Given the description of an element on the screen output the (x, y) to click on. 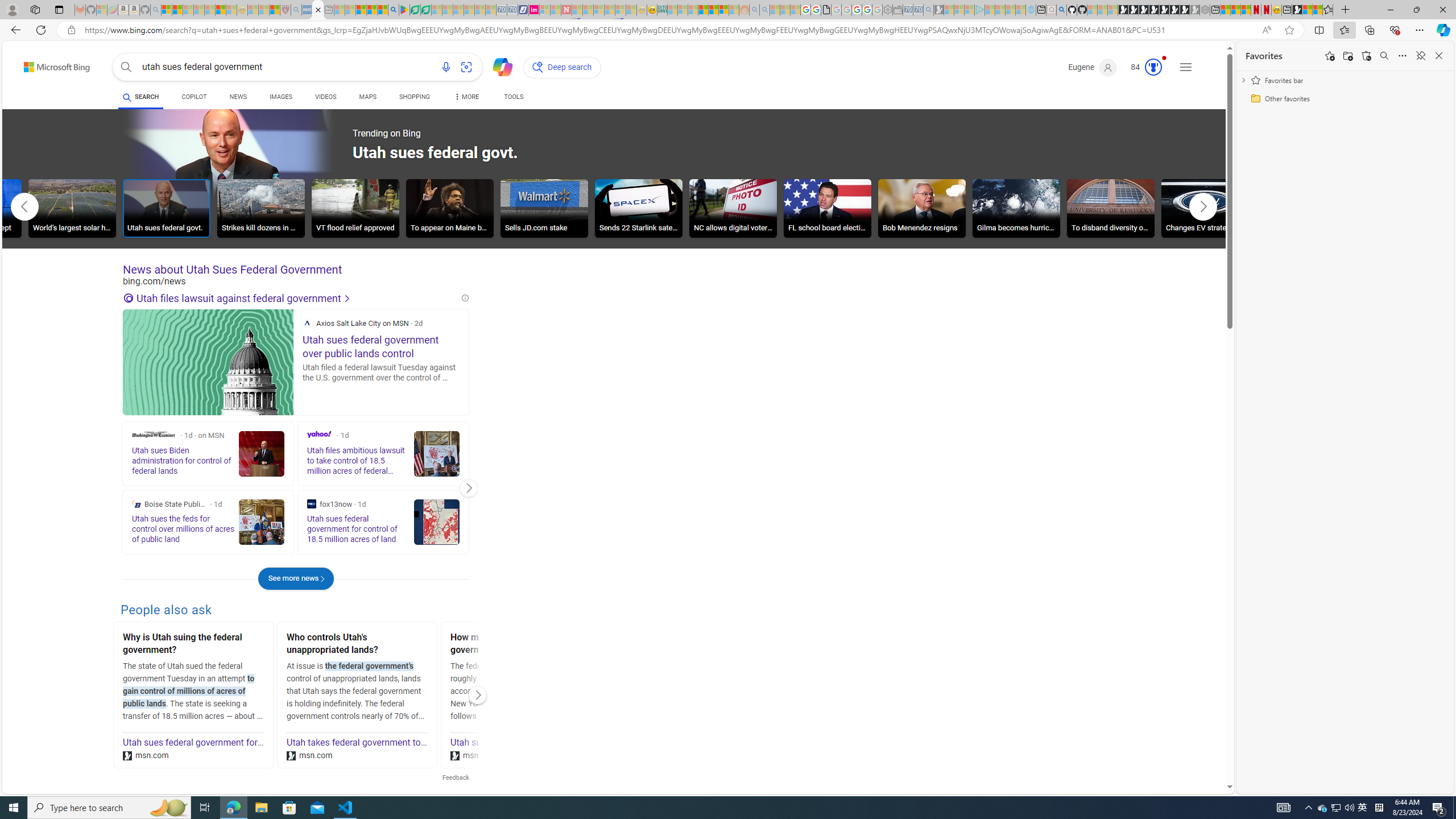
To appear on Maine ballot (449, 209)
Strikes kill dozens in Gaza (260, 207)
Animation (1163, 57)
Why is Utah suing the federal government? (192, 645)
SHOPPING (414, 98)
Microsoft Rewards 84 (1142, 67)
